Given the description of an element on the screen output the (x, y) to click on. 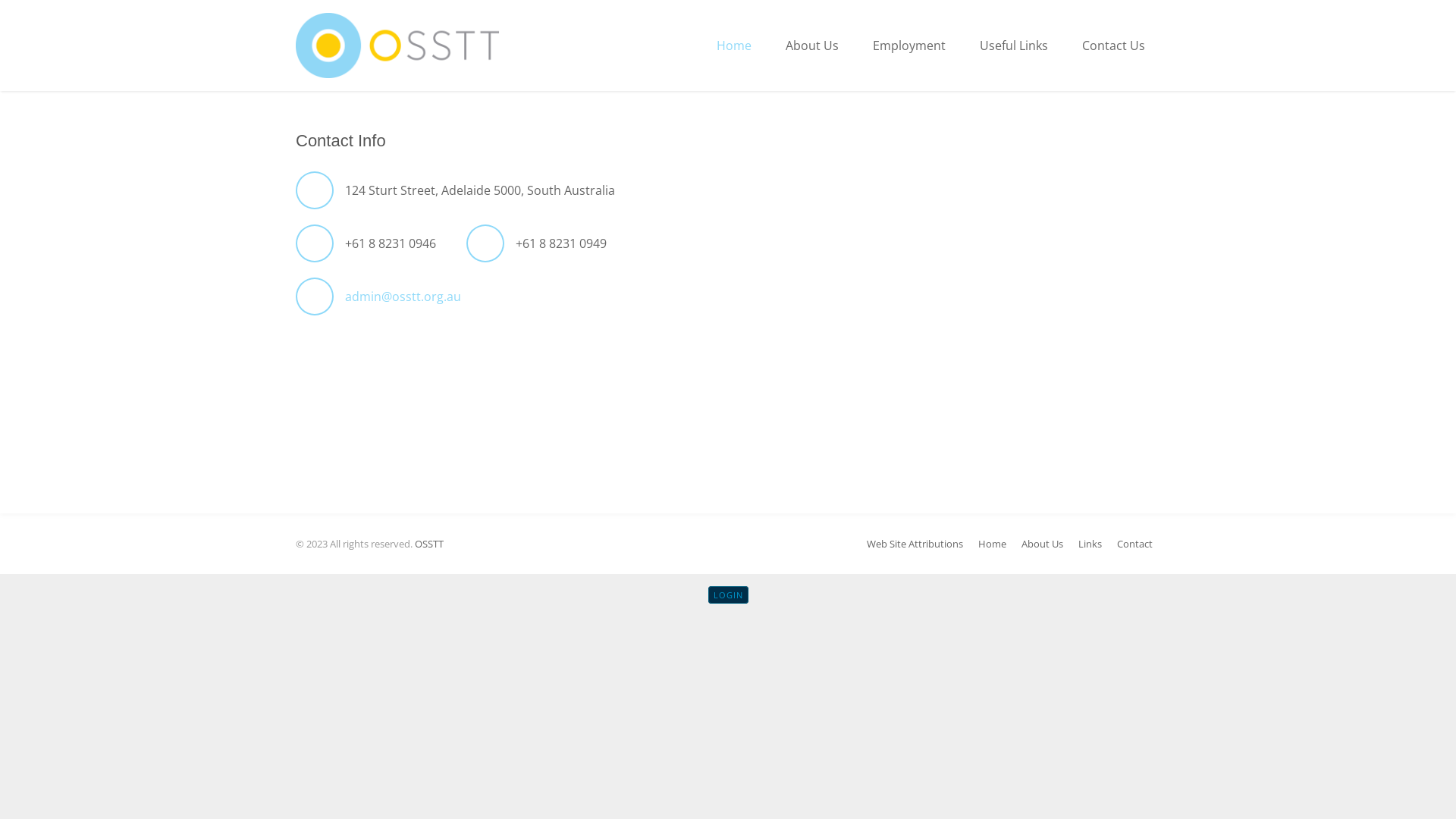
LOGIN Element type: text (728, 594)
OSSTT Element type: text (428, 543)
admin@osstt.org.au Element type: text (403, 296)
Web Site Attributions Element type: text (914, 543)
Employment Element type: text (906, 45)
Contact Element type: text (1134, 543)
Useful Links Element type: text (1011, 45)
Links Element type: text (1089, 543)
About Us Element type: text (809, 45)
Contact Us Element type: text (1111, 45)
About Us Element type: text (1042, 543)
Home Element type: text (992, 543)
Home Element type: text (731, 45)
